Given the description of an element on the screen output the (x, y) to click on. 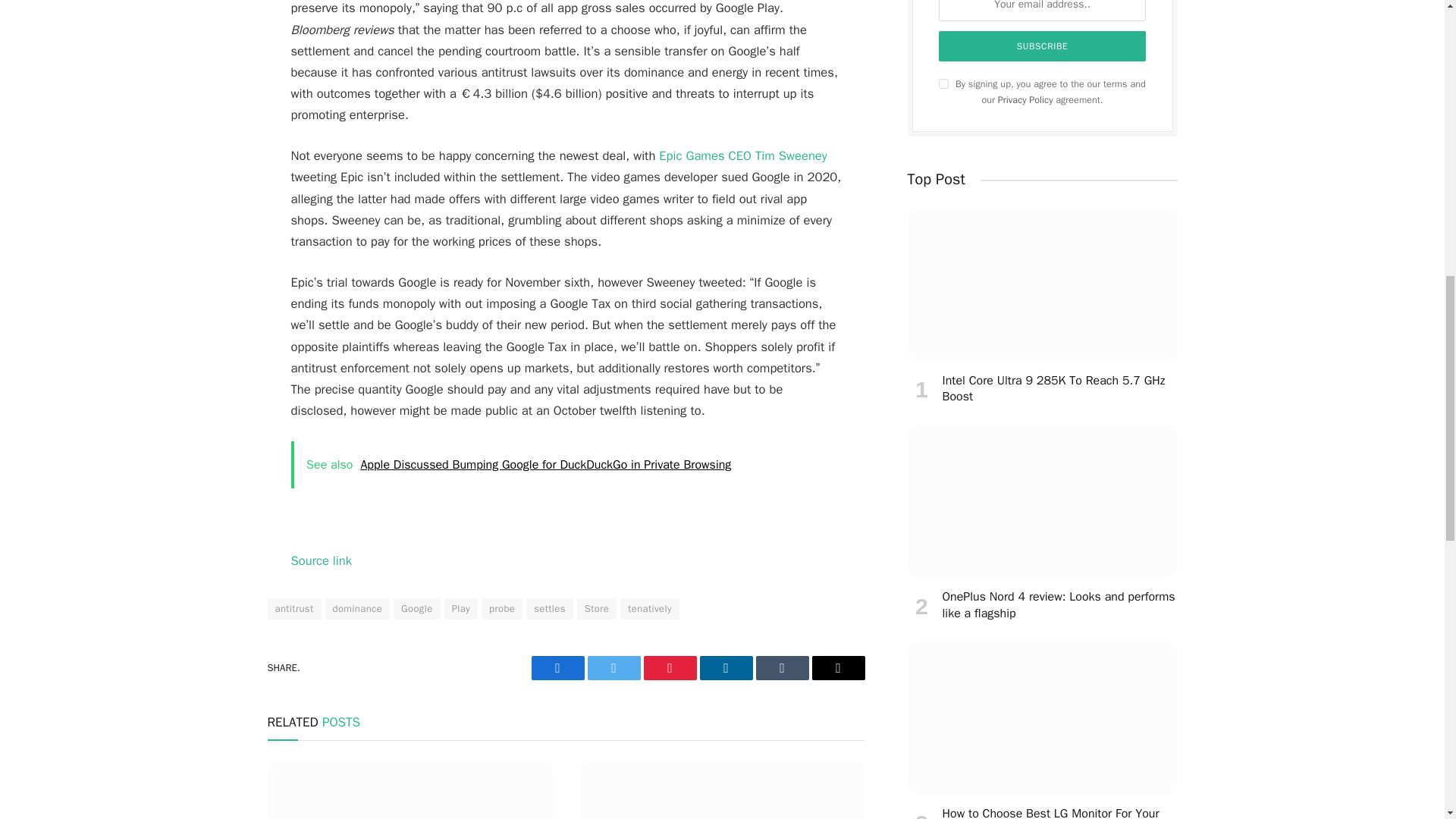
on (944, 83)
Subscribe (1043, 46)
